Given the description of an element on the screen output the (x, y) to click on. 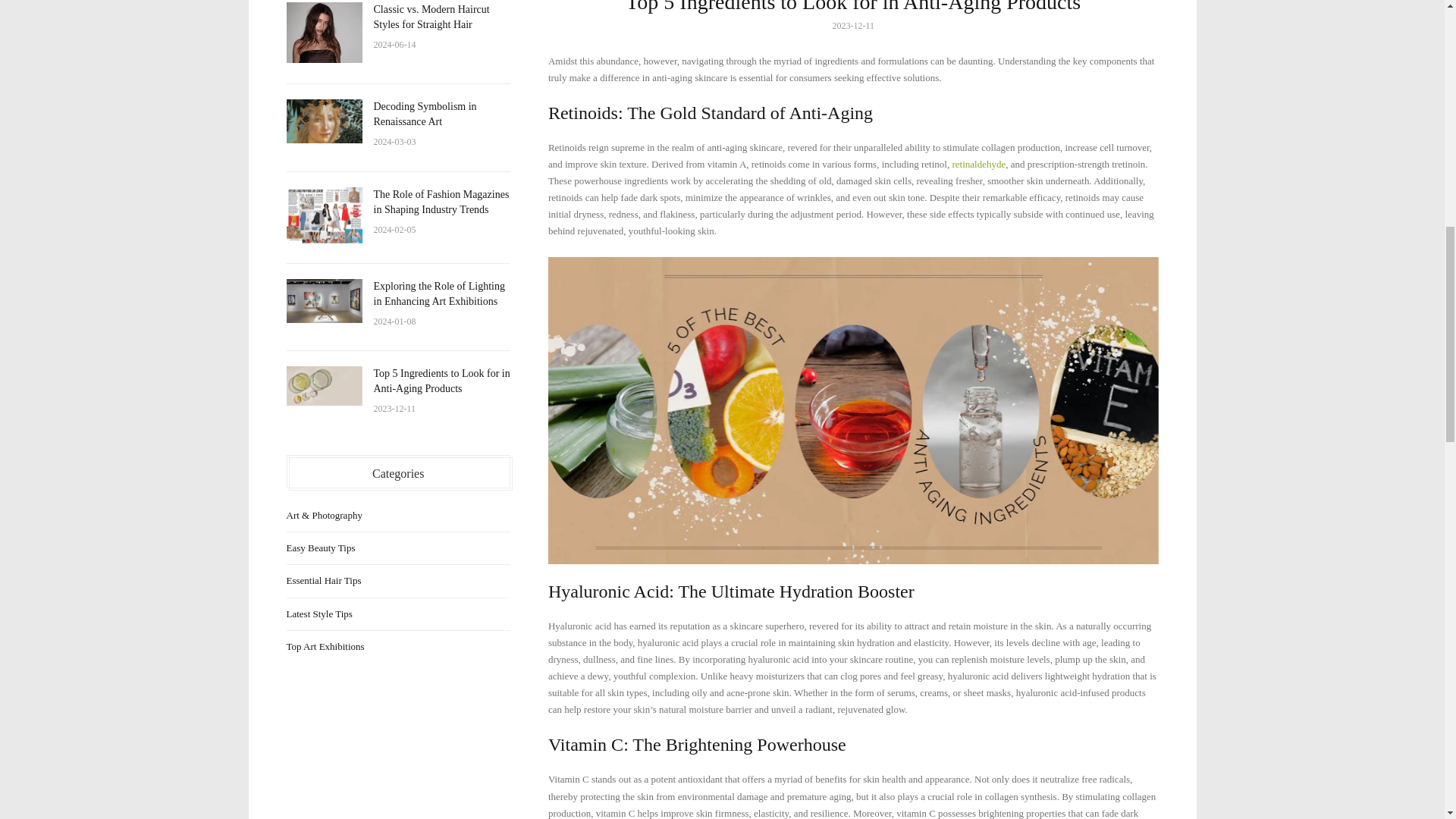
Top 5 Ingredients to Look for in Anti-Aging Products (324, 385)
Classic vs. Modern Haircut Styles for Straight Hair (430, 17)
retinaldehyde (979, 163)
Decoding Symbolism in Renaissance Art (424, 113)
Top 5 Ingredients to Look for in Anti-Aging Products (440, 380)
Decoding Symbolism in Renaissance Art (324, 121)
The Role of Fashion Magazines in Shaping Industry Trends (440, 202)
Exploring the Role of Lighting in Enhancing Art Exhibitions (437, 293)
Top 5 Ingredients to Look for in Anti-Aging Products (440, 380)
Exploring the Role of Lighting in Enhancing Art Exhibitions (324, 300)
The Role of Fashion Magazines in Shaping Industry Trends (440, 202)
Classic vs. Modern Haircut Styles for Straight Hair (430, 17)
The Role of Fashion Magazines in Shaping Industry Trends (324, 215)
Decoding Symbolism in Renaissance Art (424, 113)
Classic vs. Modern Haircut Styles for Straight Hair (324, 32)
